Given the description of an element on the screen output the (x, y) to click on. 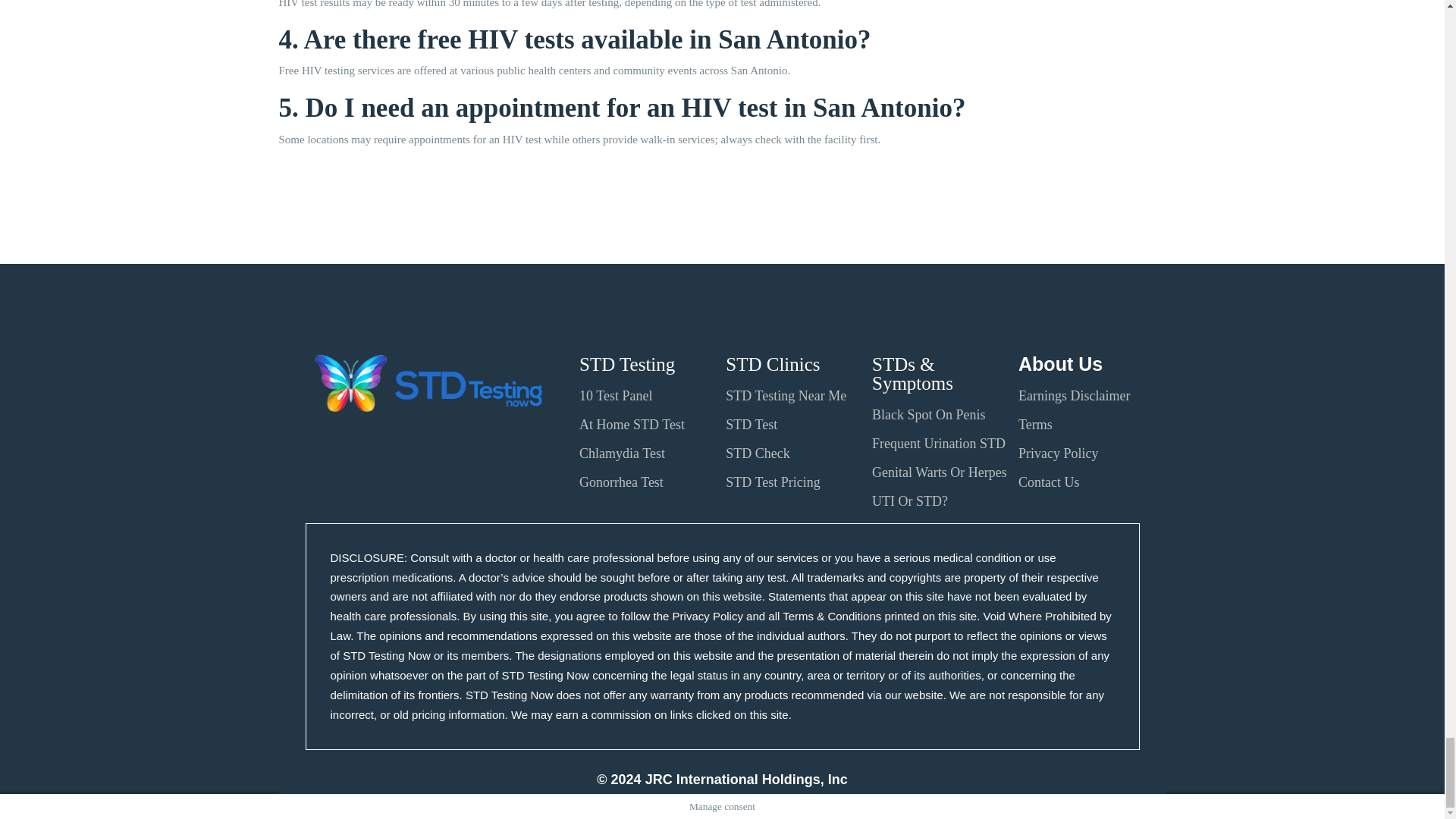
10 Test Panel (615, 395)
At Home STD Test (631, 424)
STD Testing (627, 363)
